Given the description of an element on the screen output the (x, y) to click on. 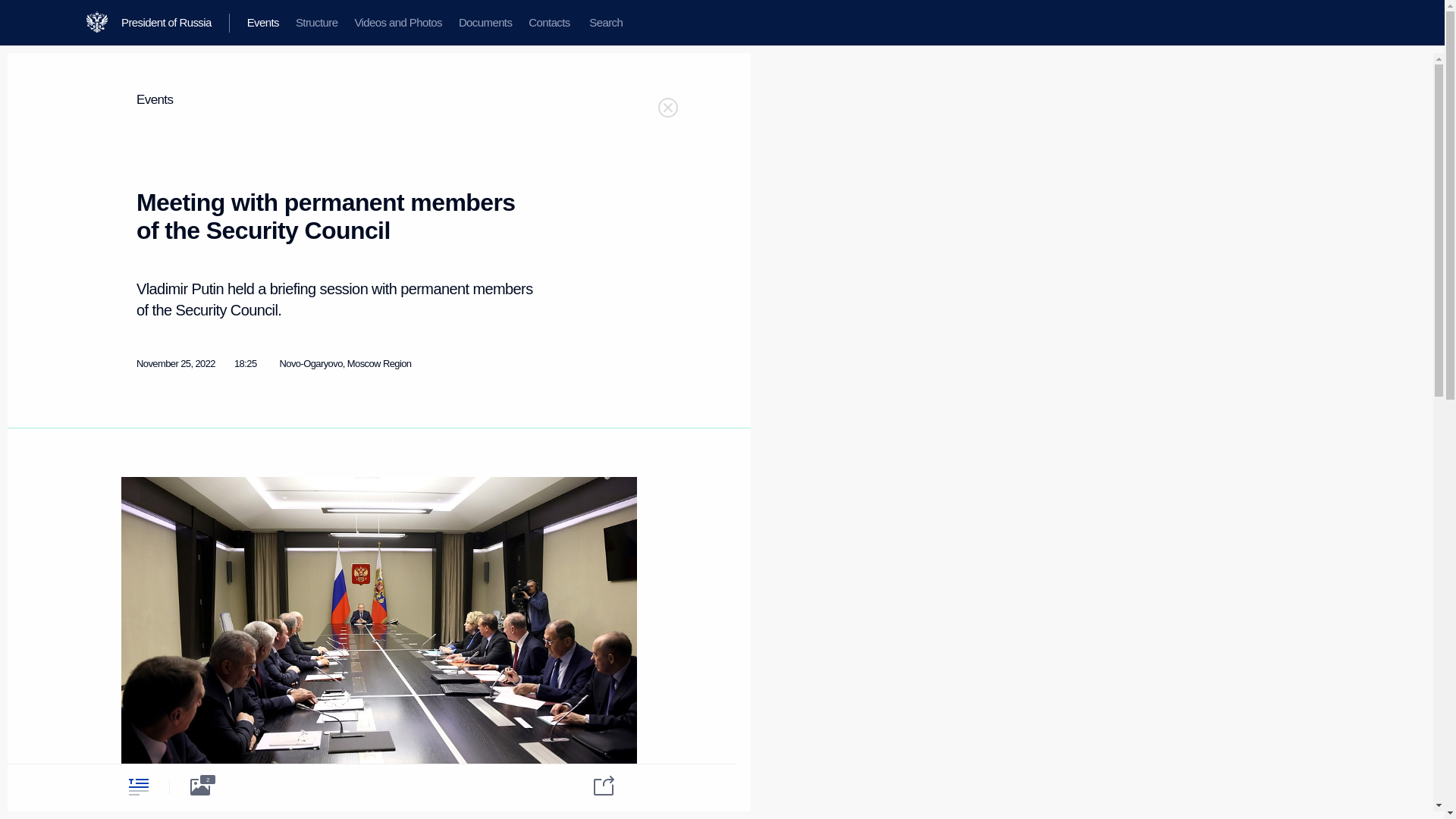
Documents (484, 22)
Photo (200, 786)
President of Russia (175, 22)
Events (262, 22)
Contacts (548, 22)
Search (605, 22)
Events (154, 99)
Share (593, 784)
Videos and Photos (397, 22)
Structure (316, 22)
Global website search (605, 22)
Text (137, 786)
